Given the description of an element on the screen output the (x, y) to click on. 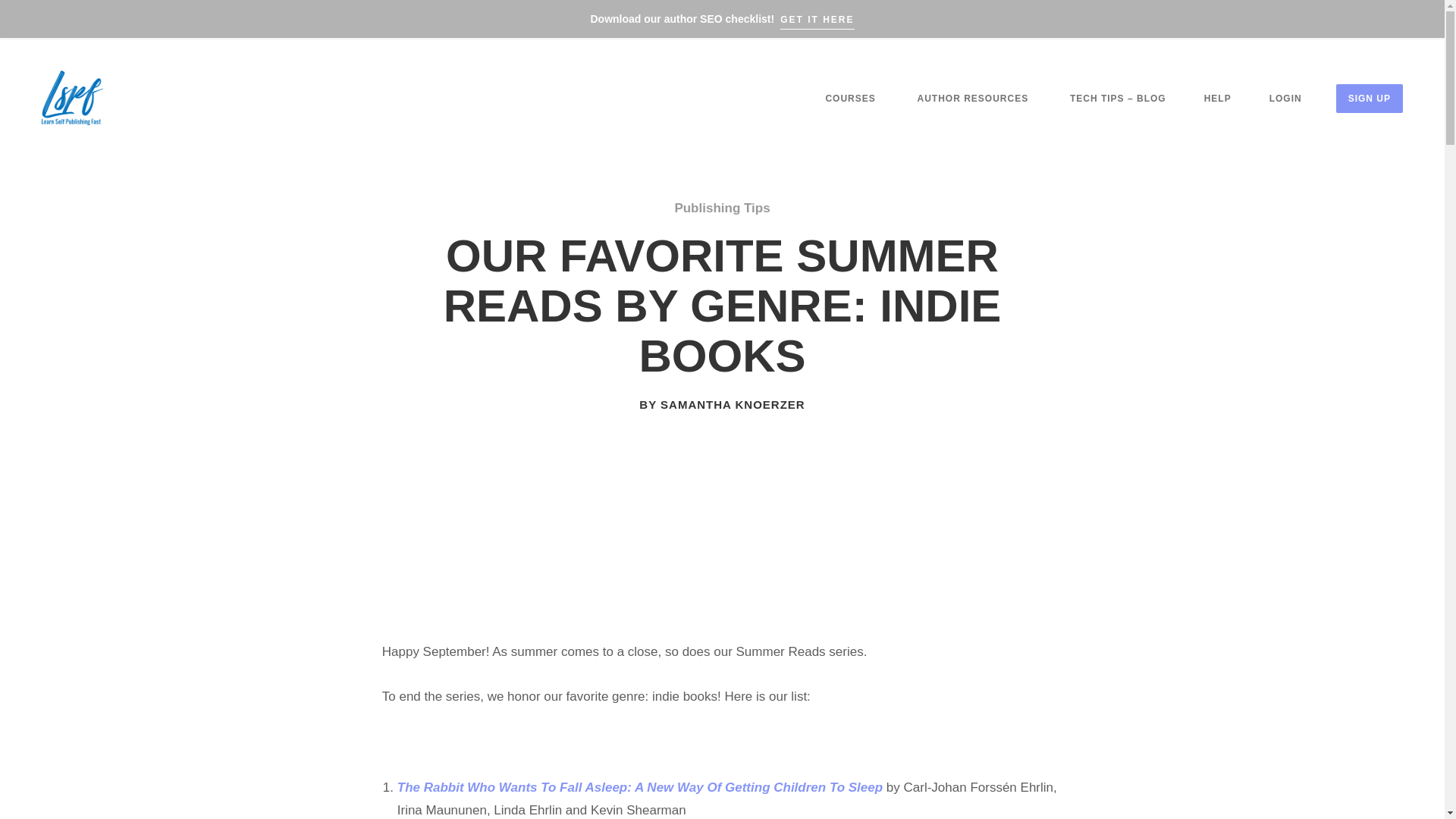
LOGIN (1285, 98)
HELP (1217, 98)
AUTHOR RESOURCES (973, 98)
COURSES (850, 98)
Publishing Tips (722, 208)
SIGN UP (1369, 98)
